Given the description of an element on the screen output the (x, y) to click on. 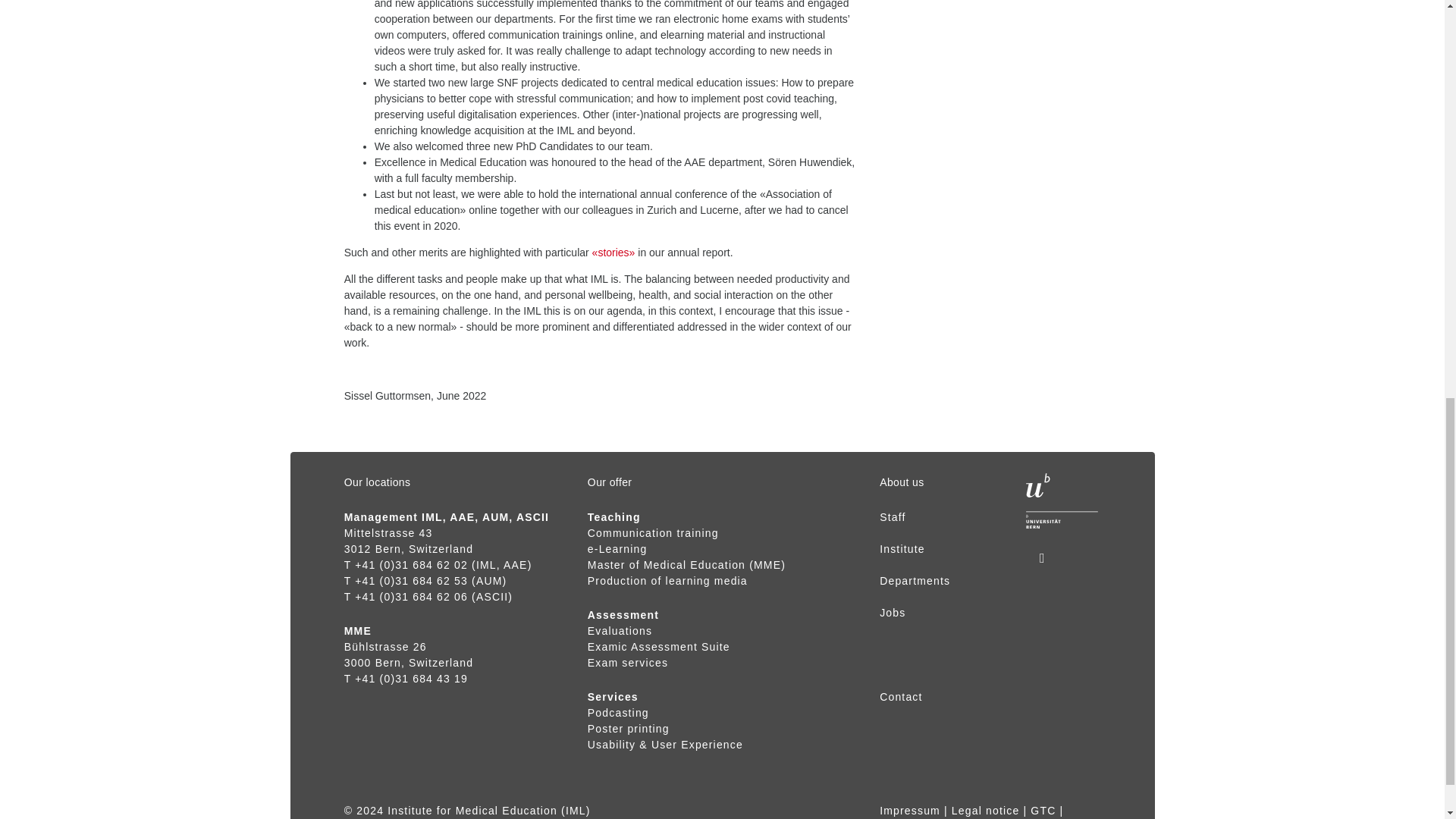
Exam services (628, 662)
Departments (914, 580)
Examic Assessment Suite (659, 646)
Communication training (653, 541)
Institute (901, 548)
Jobs (892, 612)
google maps (387, 532)
Poster printing (628, 728)
Staff (892, 517)
Evaluations (620, 630)
Podcasting (618, 712)
Production of learning media (668, 580)
Google Maps (384, 646)
